Given the description of an element on the screen output the (x, y) to click on. 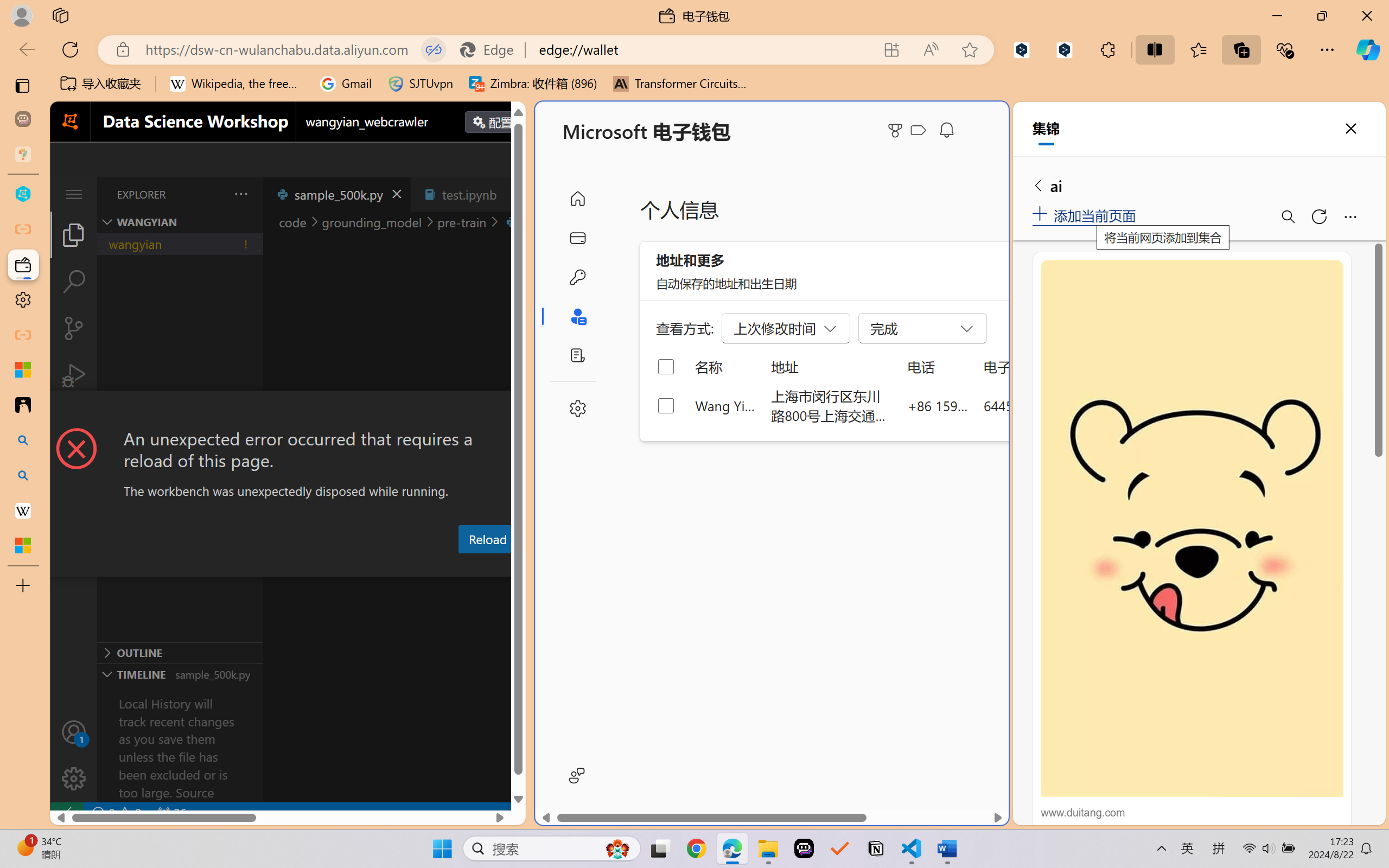
Edge (492, 49)
Manage (73, 778)
+86 159 0032 4640 (938, 405)
Close Dialog (520, 410)
